Given the description of an element on the screen output the (x, y) to click on. 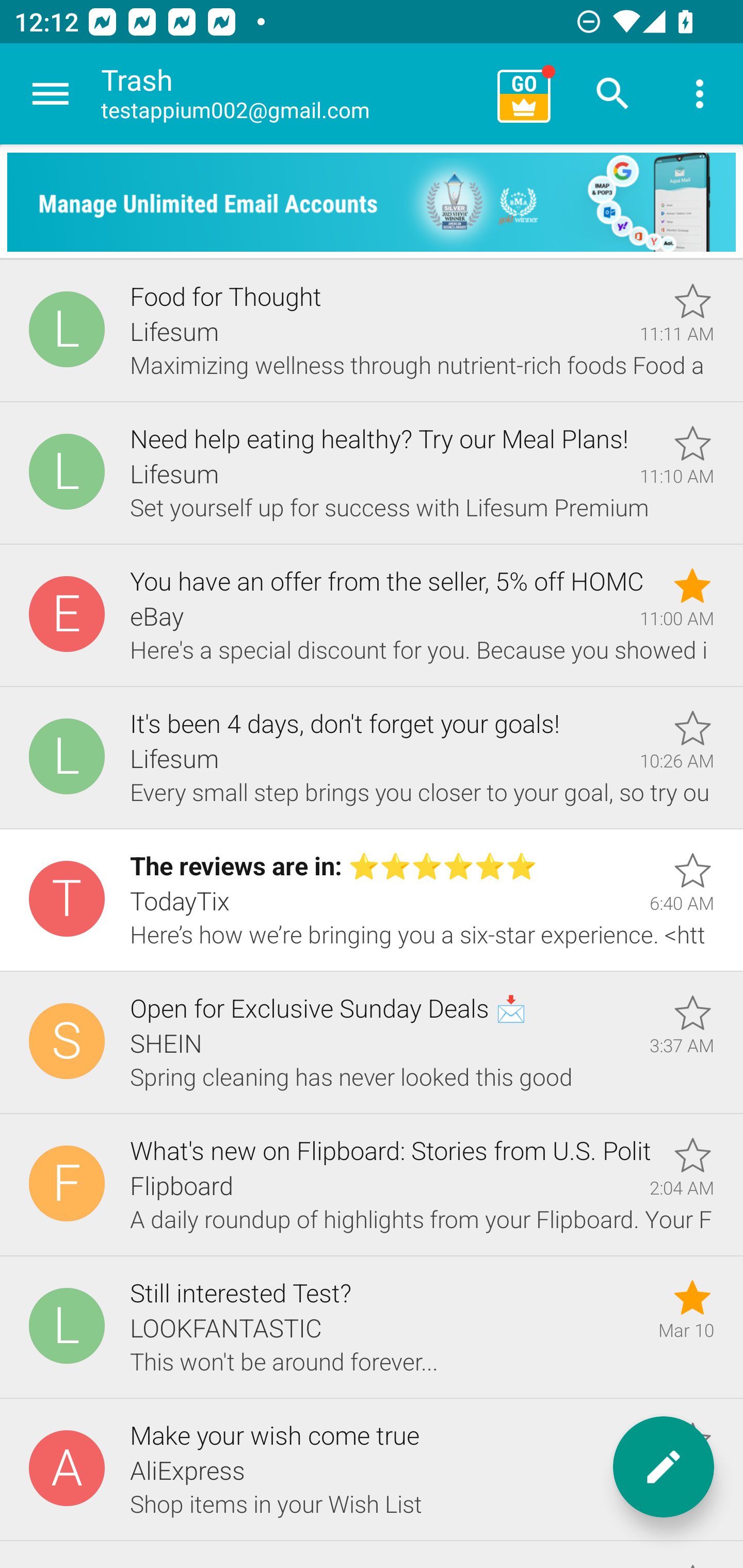
Navigate up (50, 93)
Trash testappium002@gmail.com (291, 93)
Search (612, 93)
More options (699, 93)
New message (663, 1466)
